Given the description of an element on the screen output the (x, y) to click on. 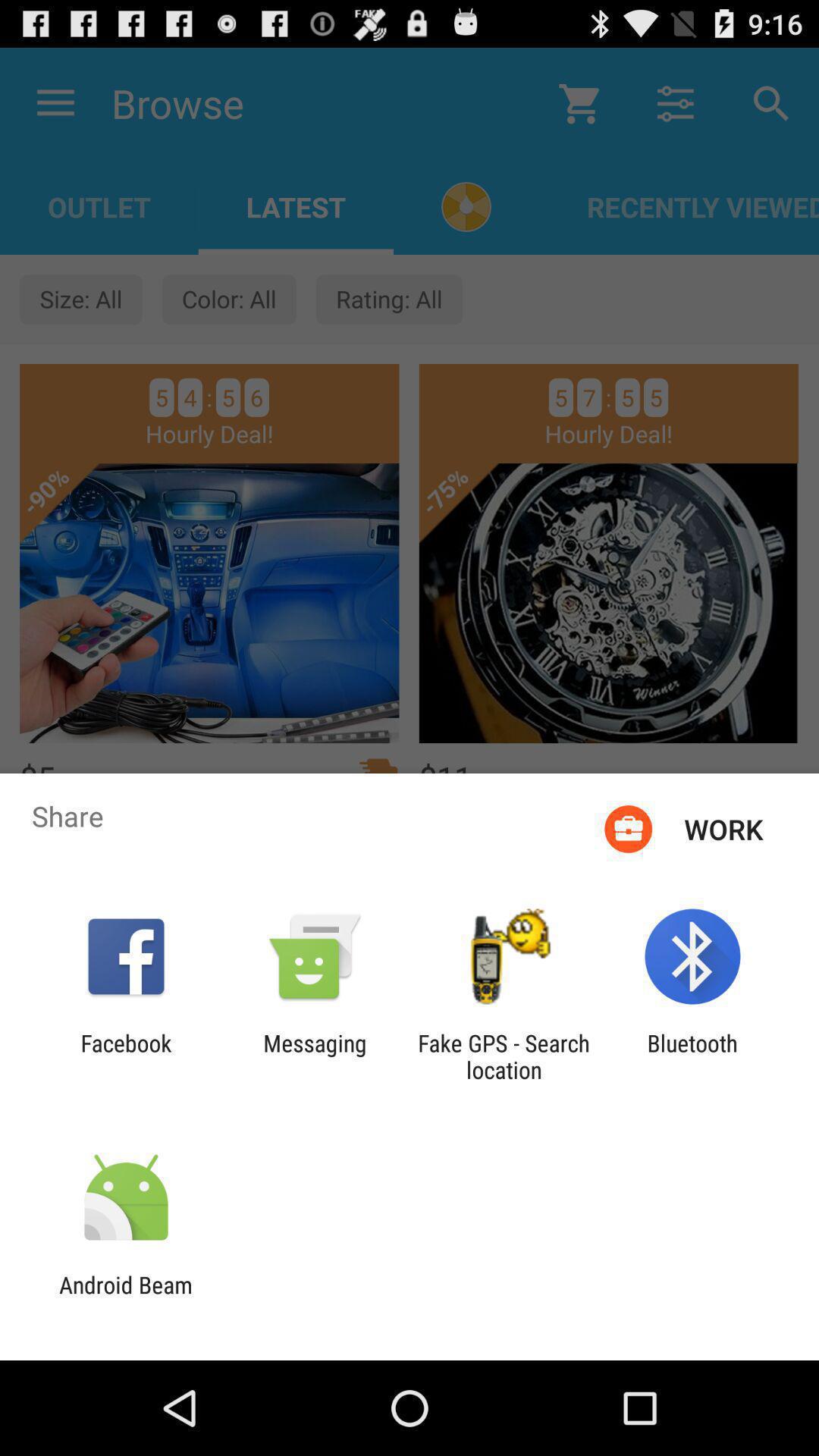
launch icon next to bluetooth item (503, 1056)
